Given the description of an element on the screen output the (x, y) to click on. 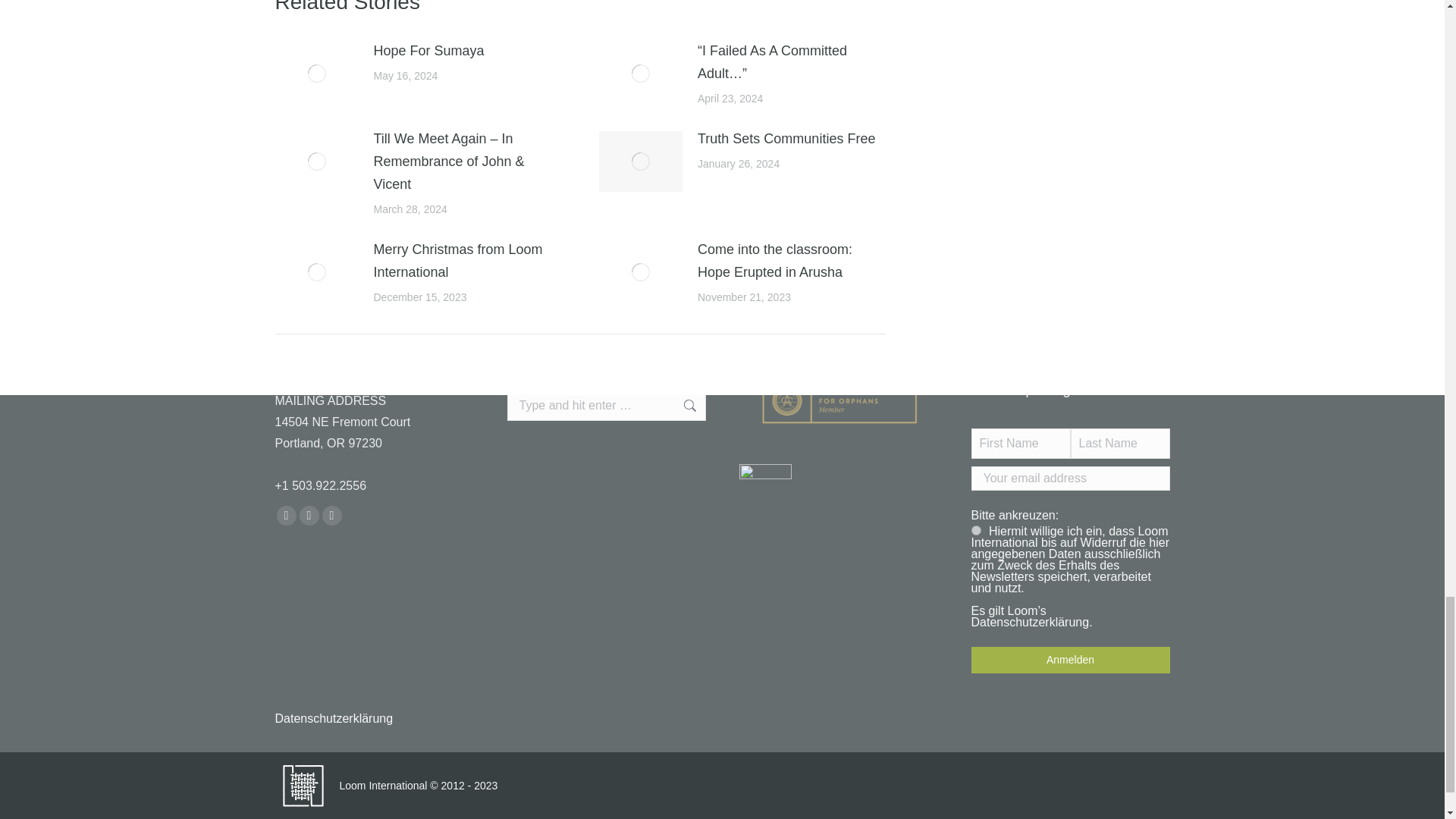
Hope For Sumaya (427, 50)
